Given the description of an element on the screen output the (x, y) to click on. 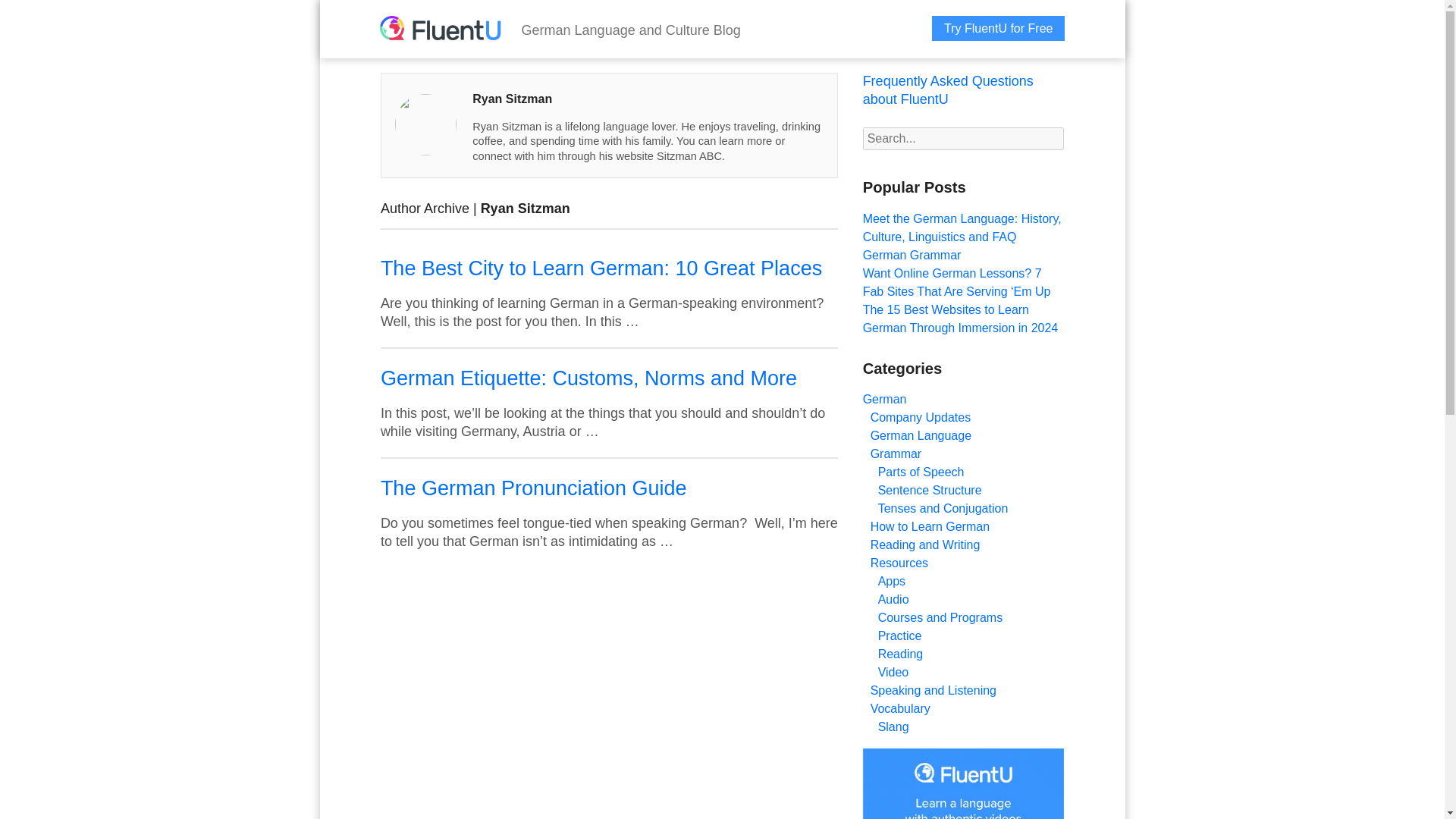
Try FluentU for Free (997, 27)
German (885, 399)
Practice (899, 635)
Courses and Programs (940, 617)
German Language and Culture Blog (631, 30)
Tenses and Conjugation (943, 508)
The German Pronunciation Guide (533, 487)
Slang (892, 726)
German Language (920, 435)
To homepage (440, 30)
Speaking and Listening (932, 689)
Resources (899, 562)
Company Updates (920, 417)
Parts of Speech (920, 472)
